Given the description of an element on the screen output the (x, y) to click on. 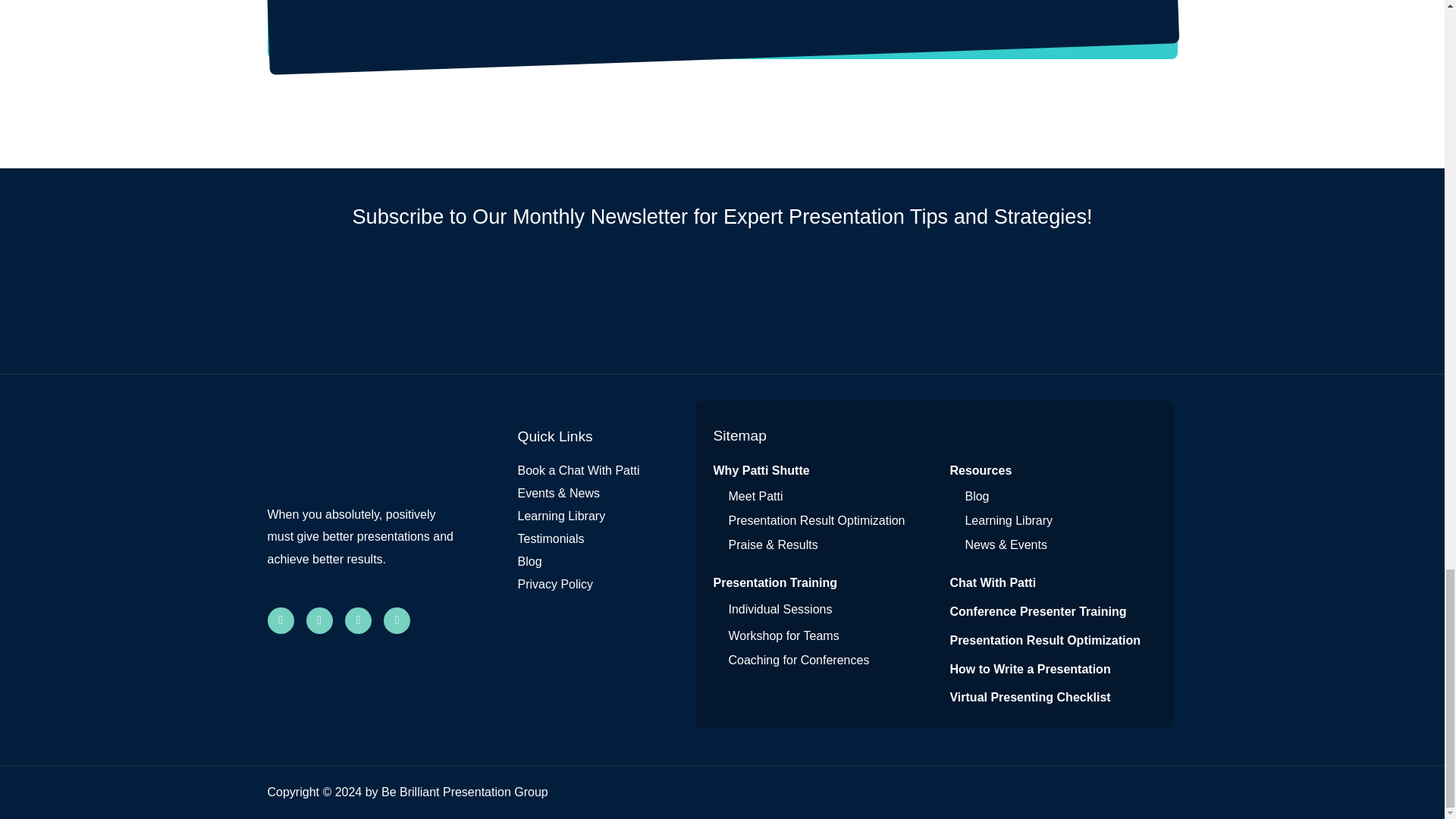
News Letter Signup Form v1.0 - Simple (722, 301)
